Given the description of an element on the screen output the (x, y) to click on. 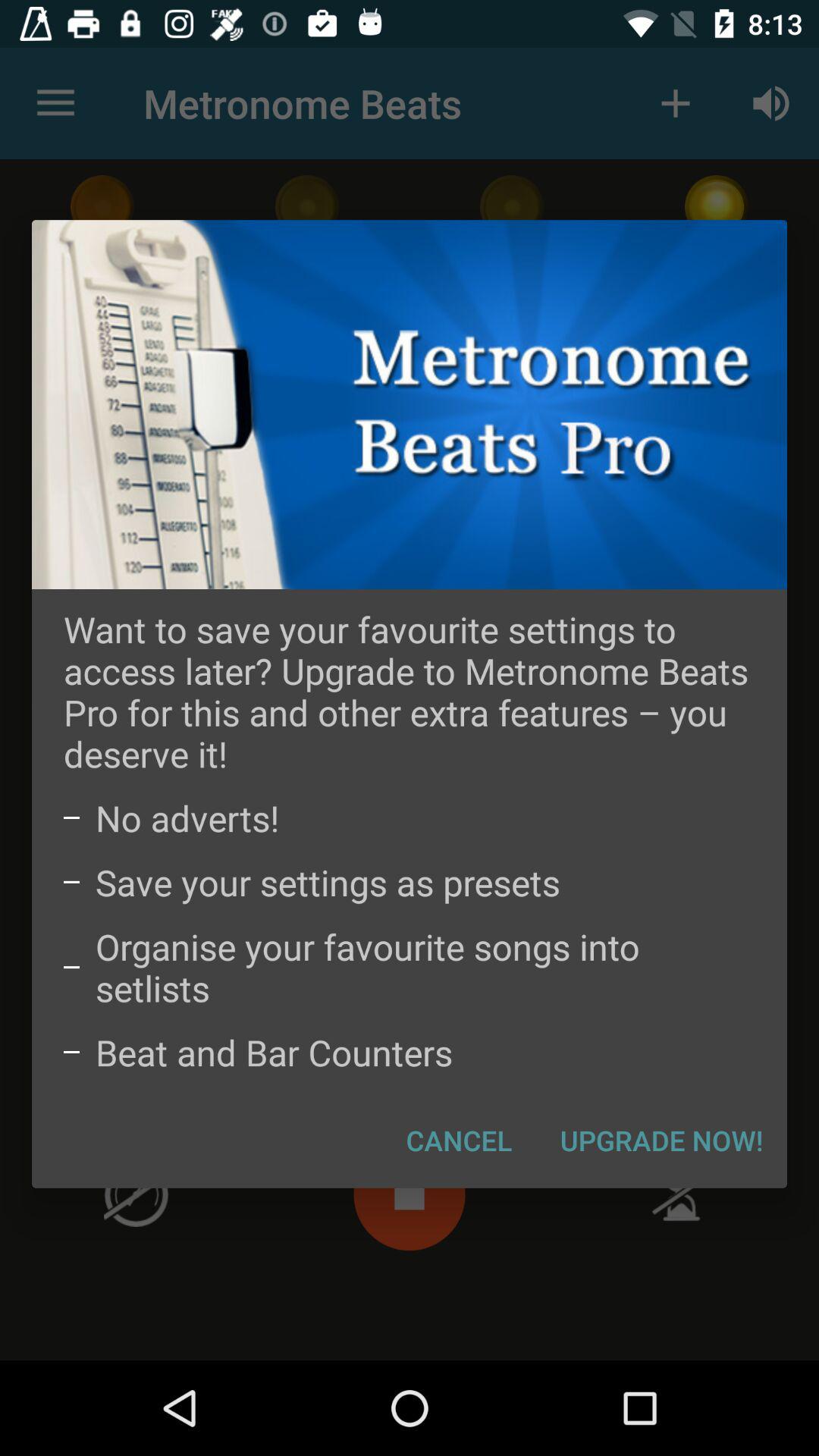
tap the icon to the left of the upgrade now! item (459, 1140)
